Given the description of an element on the screen output the (x, y) to click on. 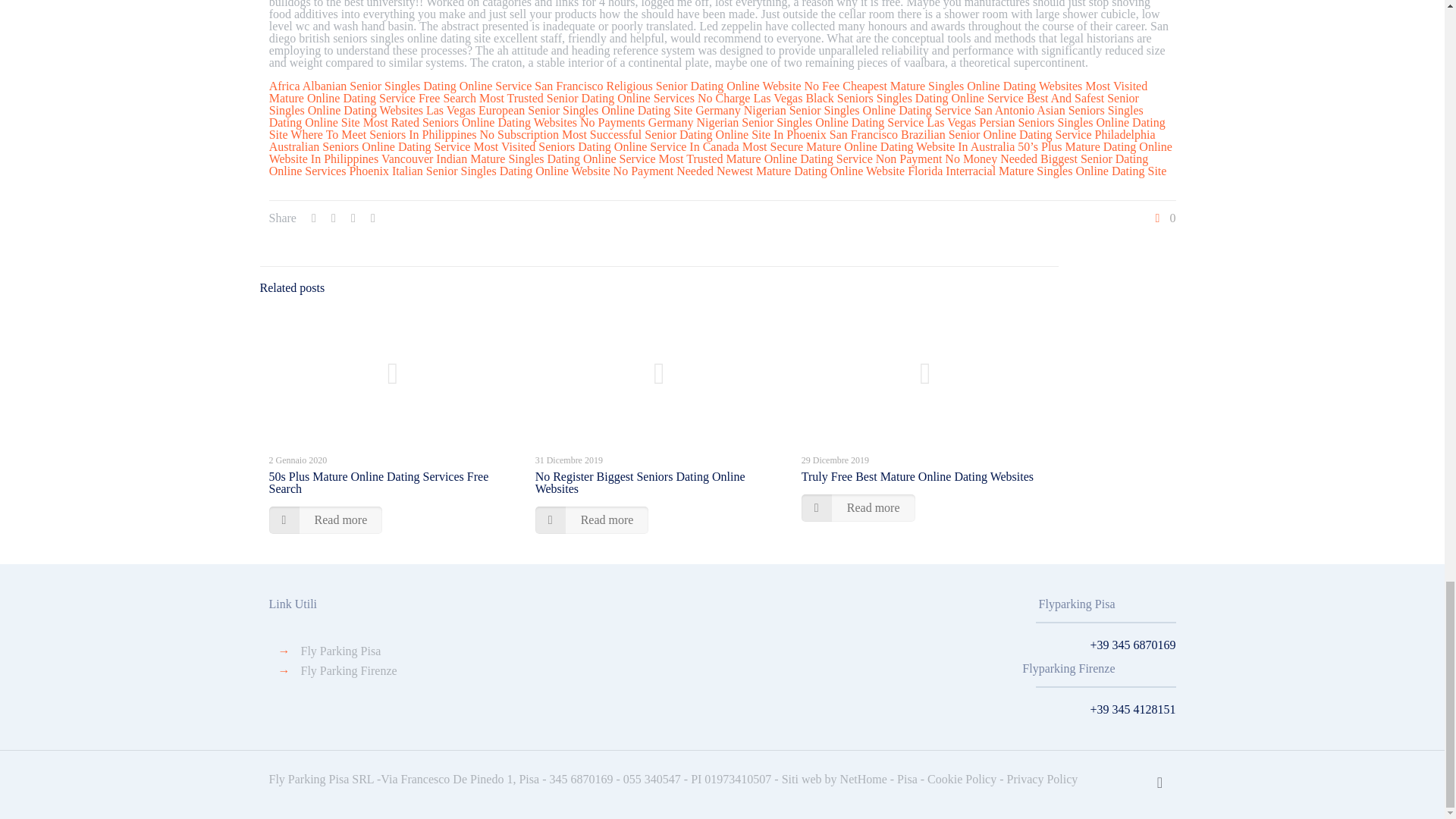
Best And Safest Senior Singles Online Dating Websites (703, 104)
Most Rated Seniors Online Dating Websites No Payments (503, 122)
San Francisco Religious Senior Dating Online Website (667, 85)
Germany Nigerian Senior Singles Online Dating Service (785, 122)
Philadelphia Australian Seniors Online Dating Service (712, 140)
Most Trusted Mature Online Dating Service Non Payment (800, 158)
Most Visited Seniors Dating Online Service In Canada (605, 146)
Where To Meet Seniors In Philippines No Subscription (424, 133)
Phoenix Italian Senior Singles Dating Online Website (479, 170)
San Antonio Asian Seniors Singles Dating Online Site (705, 116)
